Given the description of an element on the screen output the (x, y) to click on. 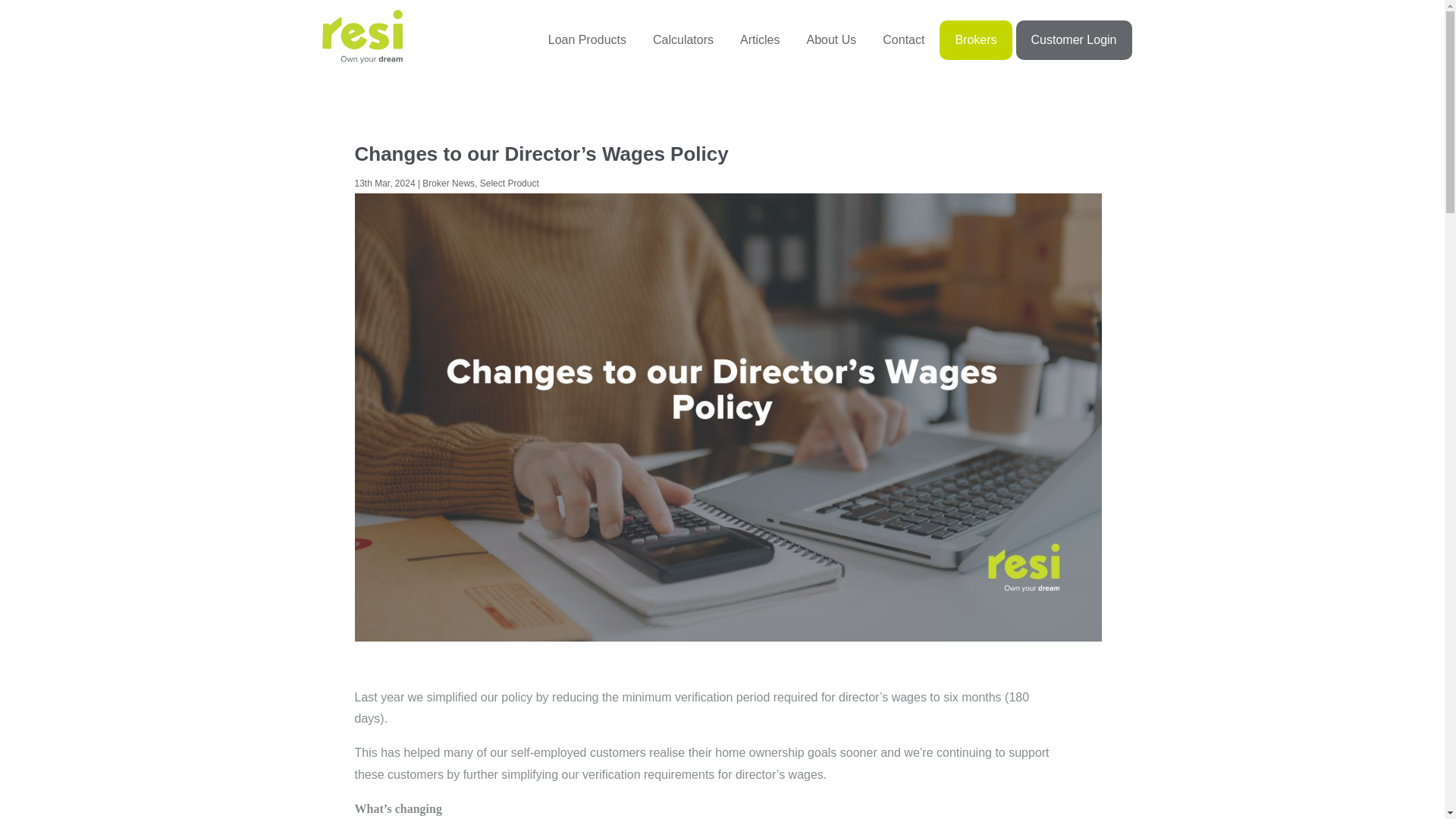
Broker News (448, 183)
Select Product (830, 39)
Brokers (759, 39)
Customer Login (509, 183)
